Given the description of an element on the screen output the (x, y) to click on. 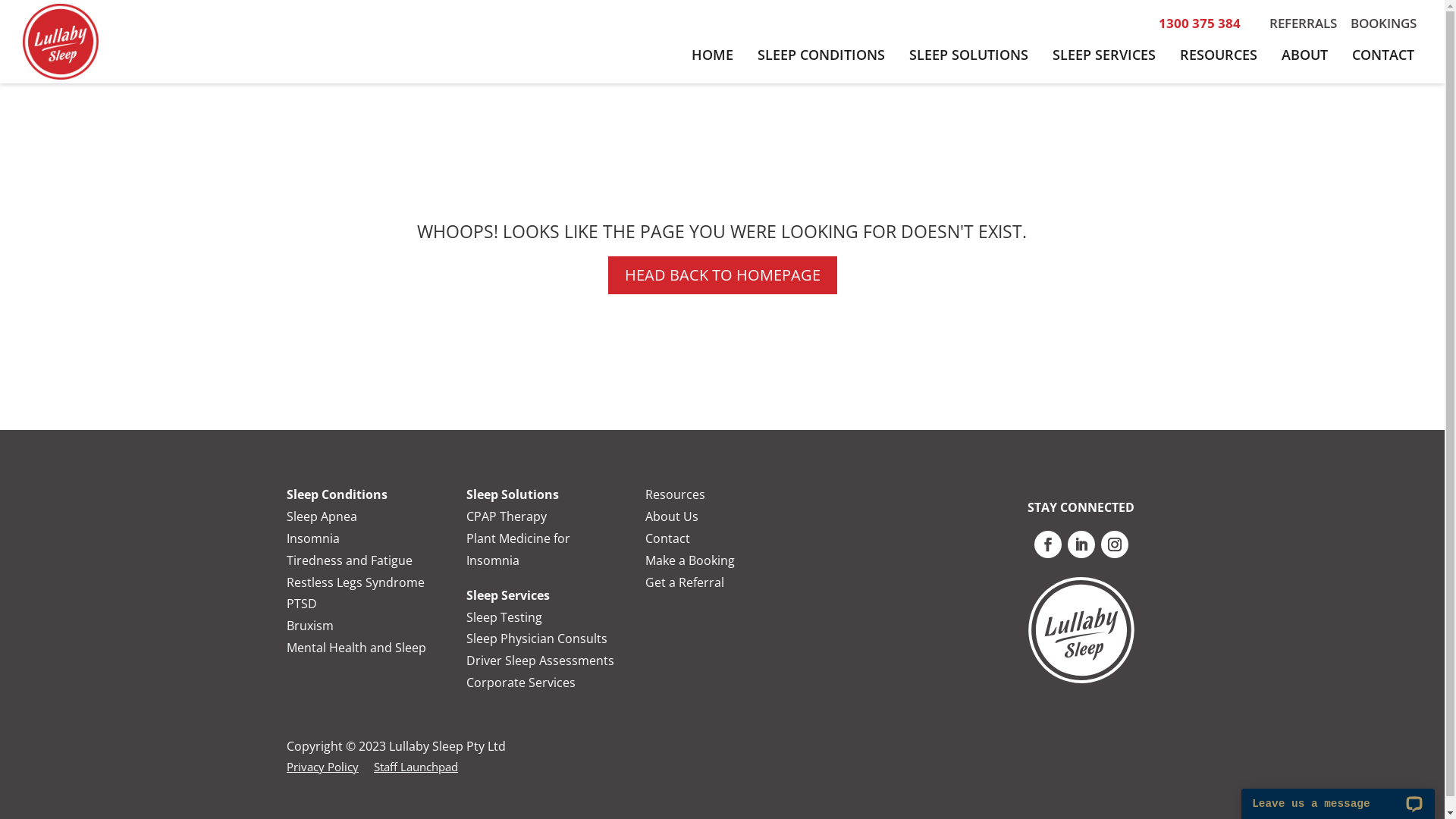
Driver Sleep Assessments Element type: text (540, 660)
SLEEP SERVICES Element type: text (1103, 54)
Contact Element type: text (667, 538)
Make a Booking Element type: text (689, 560)
CPAP Therapy Element type: text (506, 516)
Lullaby Sleep Element type: hover (60, 41)
Resources Element type: text (675, 494)
CONTACT Element type: text (1382, 54)
1300 375 384 Element type: text (1199, 22)
ABOUT Element type: text (1304, 54)
Privacy Policy Element type: text (322, 766)
RESOURCES Element type: text (1218, 54)
SLEEP SOLUTIONS Element type: text (968, 54)
PTSD Element type: text (301, 603)
Staff Launchpad Element type: text (415, 766)
Bruxism Element type: text (309, 625)
Lullaby Sleep Element type: hover (1081, 629)
Corporate Services Element type: text (520, 682)
Sleep Apnea Element type: text (321, 516)
Insomnia Element type: text (312, 538)
Follow on Facebook Element type: hover (1047, 544)
Follow on LinkedIn Element type: hover (1081, 544)
Restless Legs Syndrome Element type: text (355, 582)
BOOKINGS Element type: text (1383, 22)
REFERRALS Element type: text (1302, 22)
HEAD BACK TO HOMEPAGE Element type: text (722, 275)
Sleep Testing Element type: text (504, 616)
Get a Referral Element type: text (684, 582)
HOME Element type: text (712, 54)
Sleep Physician Consults Element type: text (536, 638)
Mental Health and Sleep Element type: text (356, 647)
SLEEP CONDITIONS Element type: text (821, 54)
Tiredness and Fatigue Element type: text (349, 560)
Plant Medicine for Insomnia Element type: text (518, 549)
About Us Element type: text (671, 516)
Follow on Instagram Element type: hover (1114, 544)
